Given the description of an element on the screen output the (x, y) to click on. 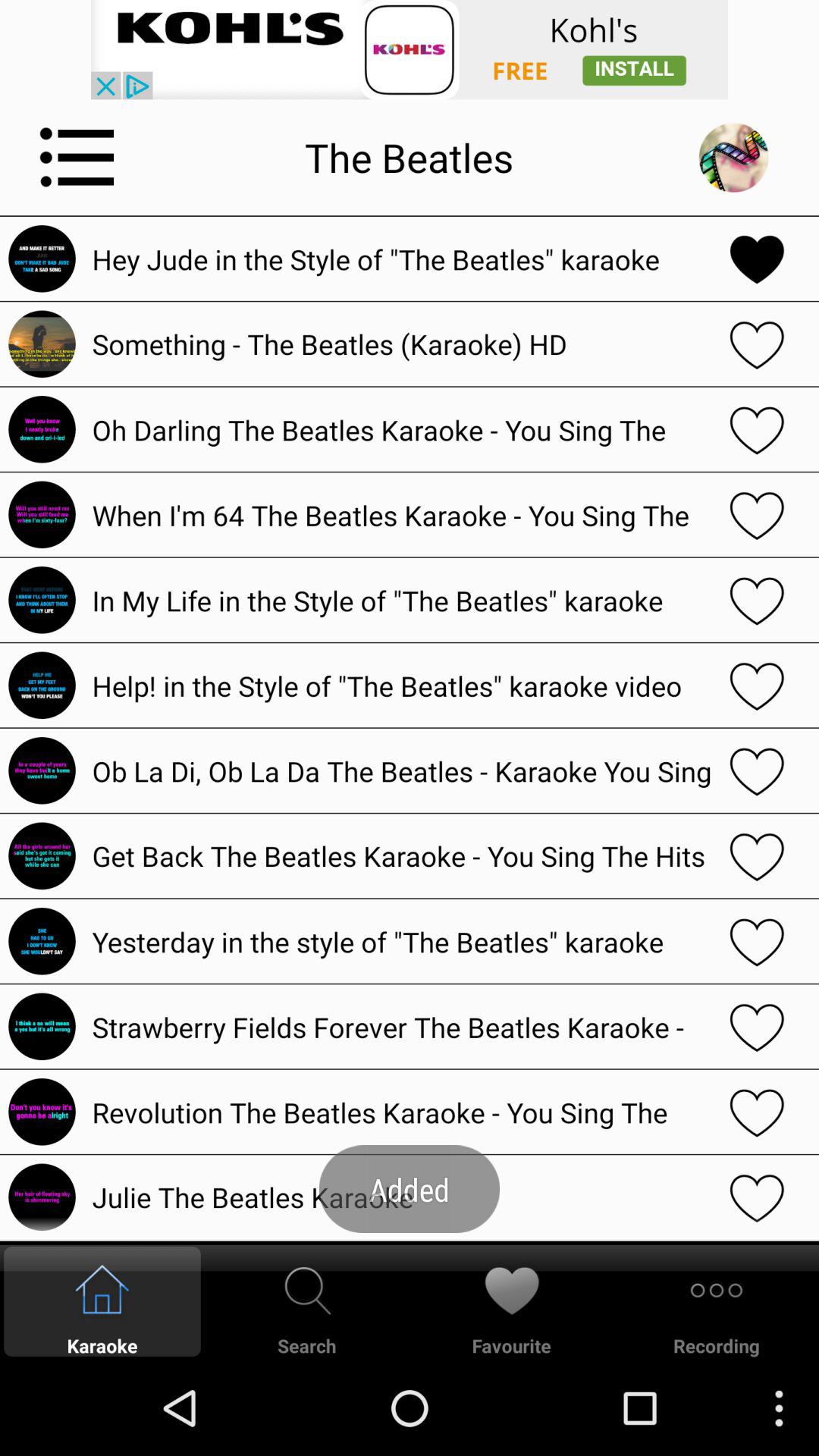
turn like box (756, 855)
